Given the description of an element on the screen output the (x, y) to click on. 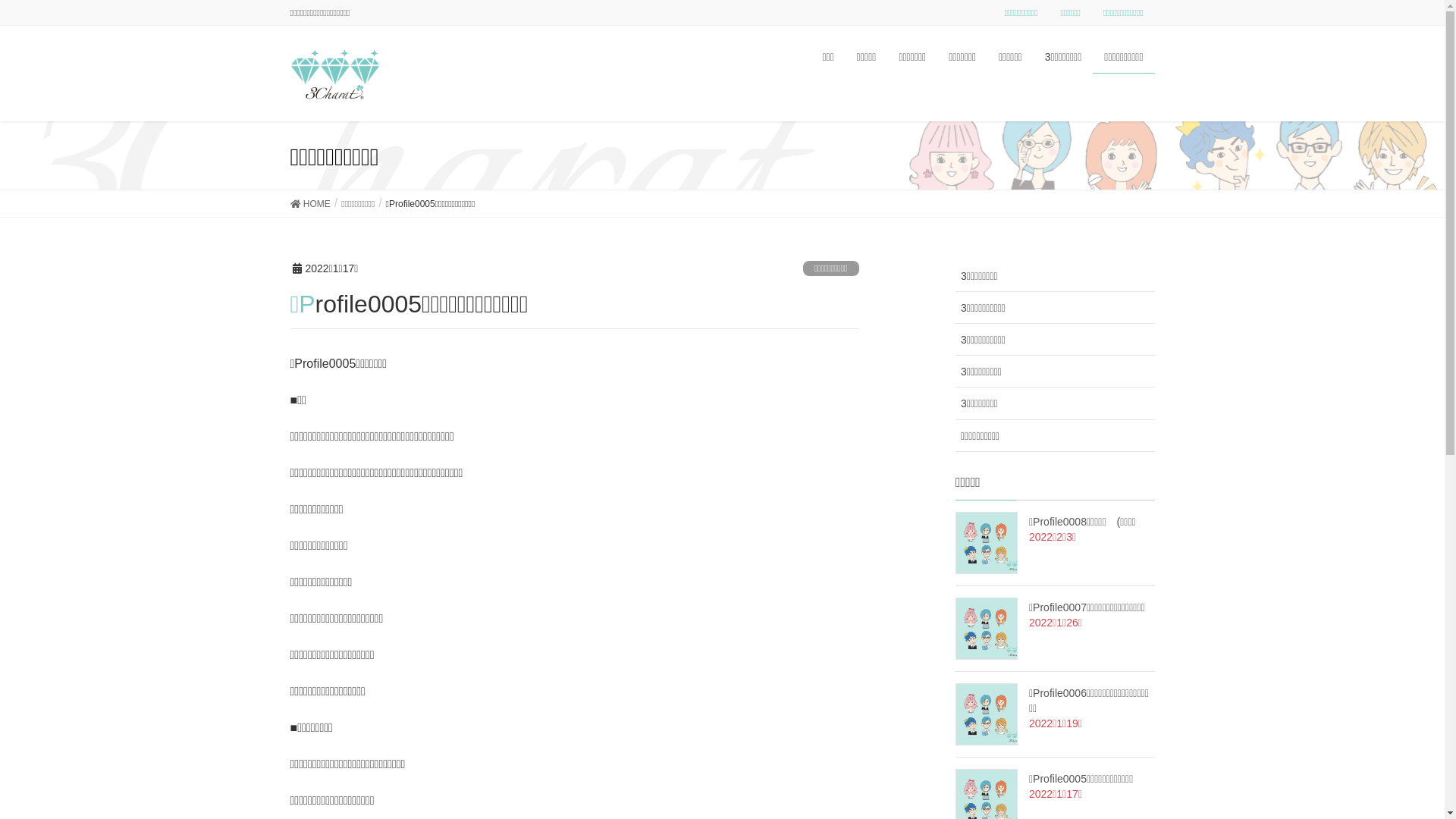
HOME Element type: text (309, 203)
